Given the description of an element on the screen output the (x, y) to click on. 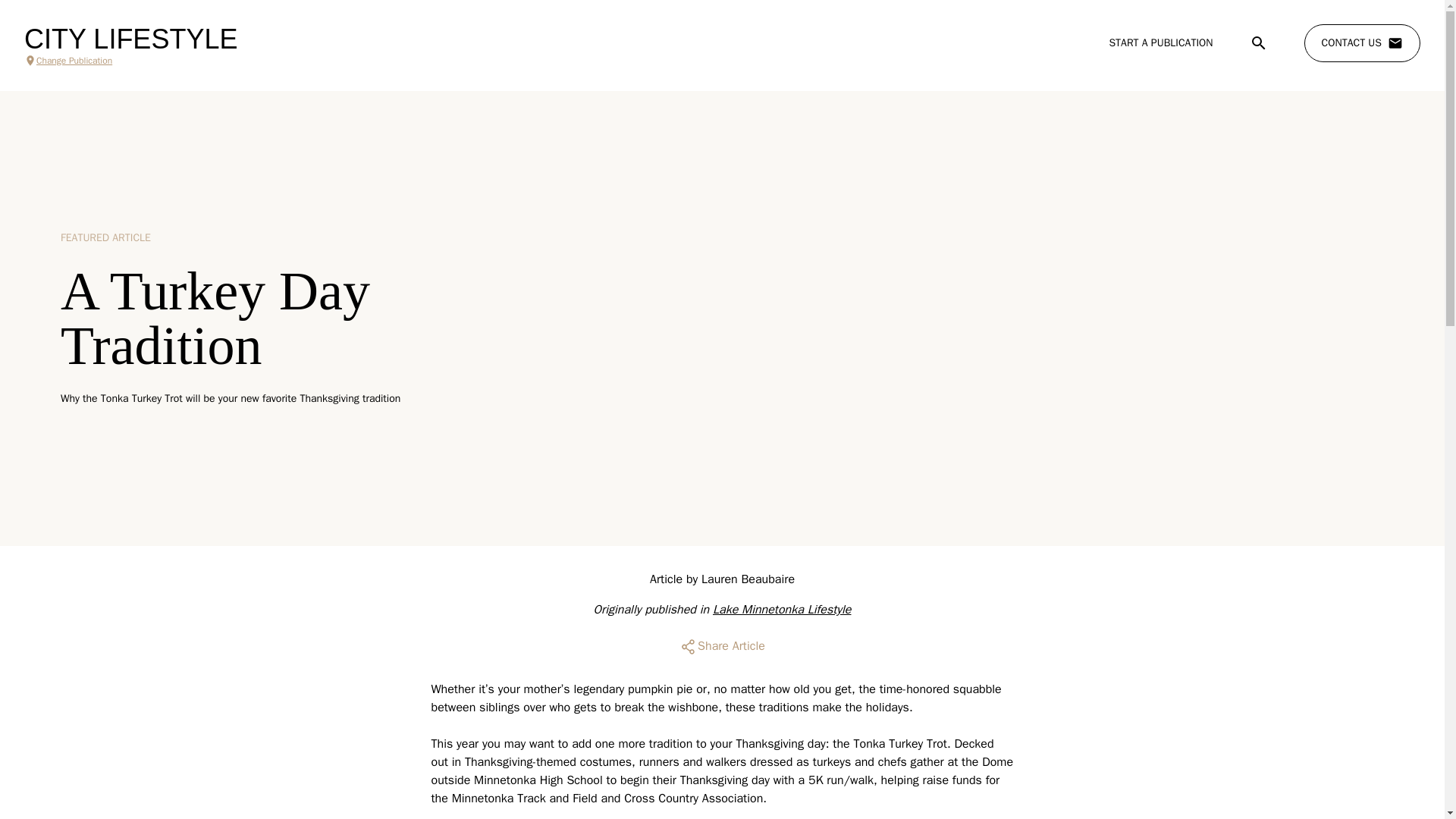
Share Article (722, 646)
Change Publication (130, 60)
START A PUBLICATION (1160, 42)
CONTACT US (1362, 43)
Lake Minnetonka Lifestyle (781, 609)
CITY LIFESTYLE (130, 39)
